Given the description of an element on the screen output the (x, y) to click on. 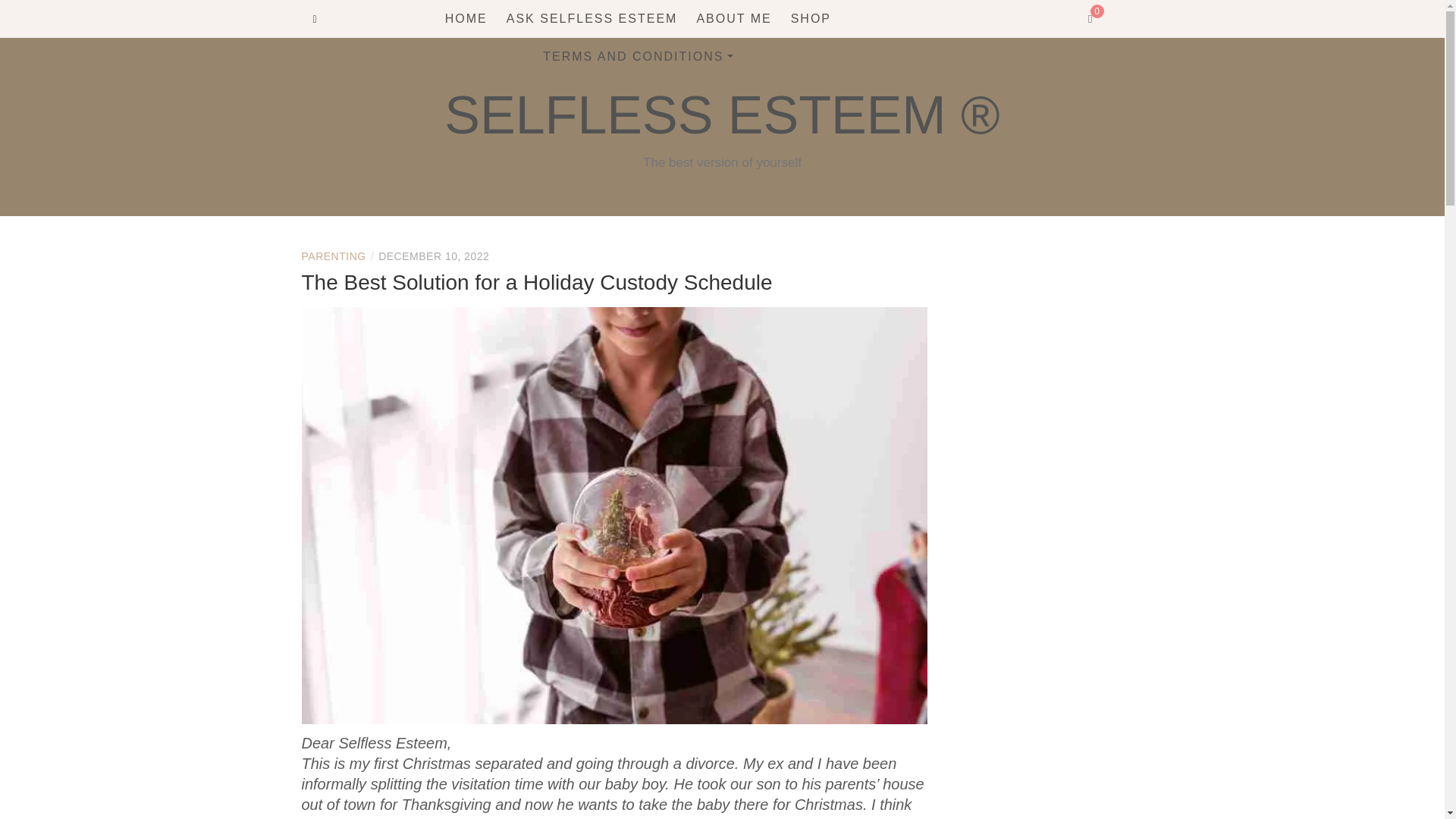
TERMS AND CONDITIONS (631, 91)
ABOUT ME (733, 18)
SHOP (810, 18)
DISCLAIMERS (631, 153)
TERMS AND CONDITIONS (637, 56)
RETURN POLICY (631, 184)
HOME (466, 18)
PARENTING (333, 256)
ASK SELFLESS ESTEEM (592, 18)
PRIVACY POLICY (631, 122)
